Given the description of an element on the screen output the (x, y) to click on. 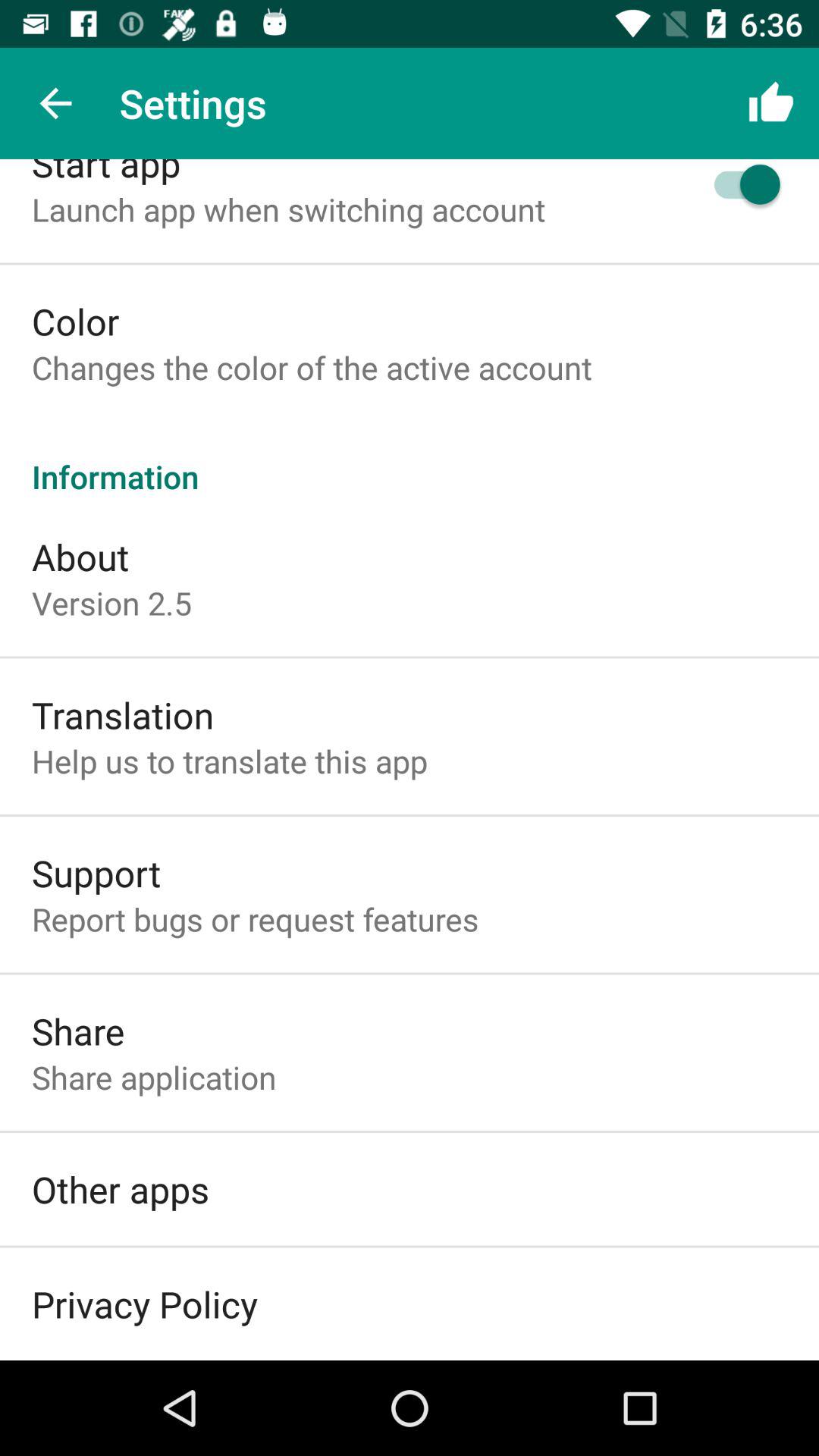
scroll to information icon (409, 460)
